Given the description of an element on the screen output the (x, y) to click on. 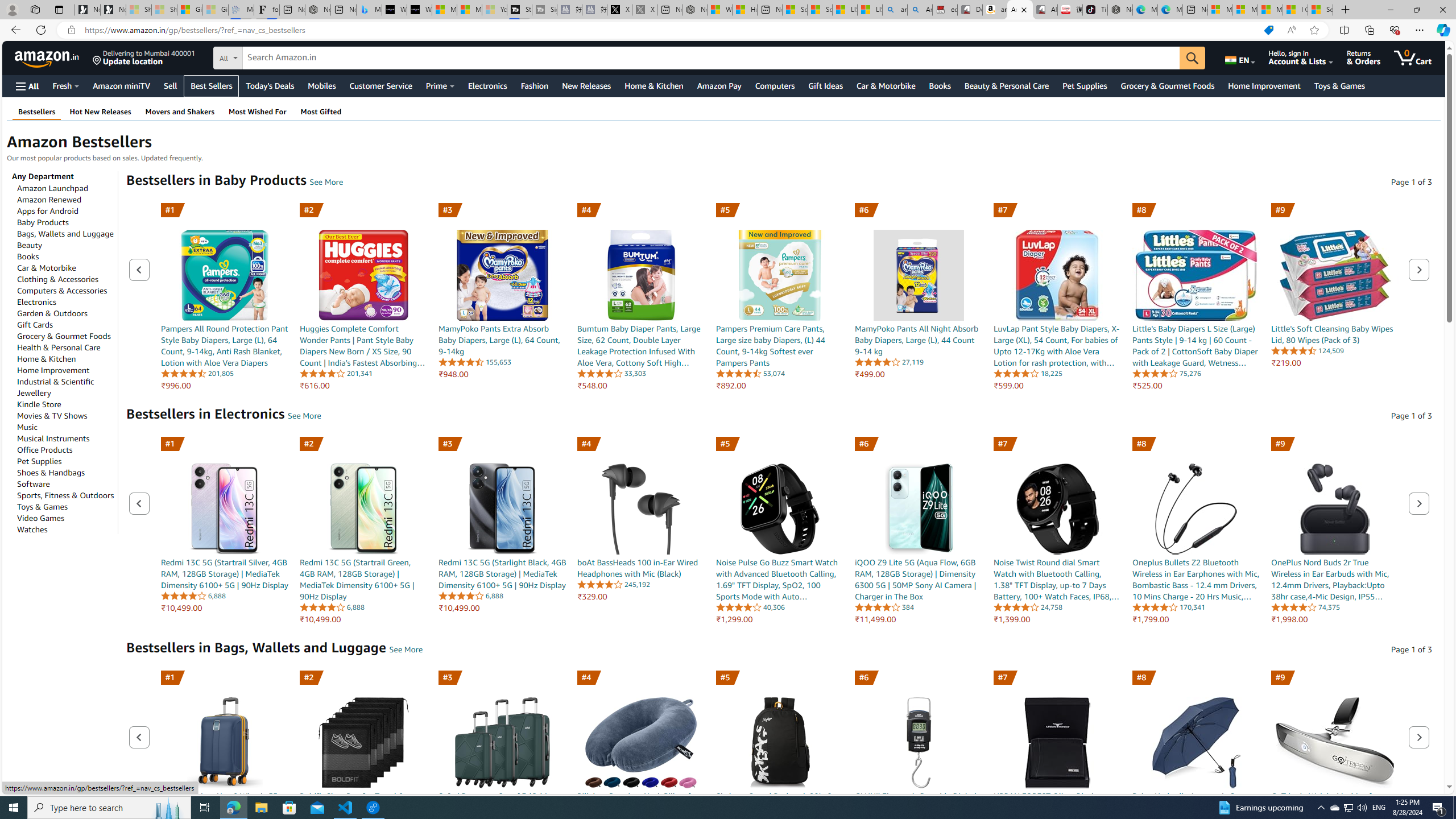
Fashion (534, 85)
Customer Service (380, 85)
Beauty (29, 244)
Search in (270, 56)
All Cubot phones (1044, 9)
Best Sellers (210, 86)
